Given the description of an element on the screen output the (x, y) to click on. 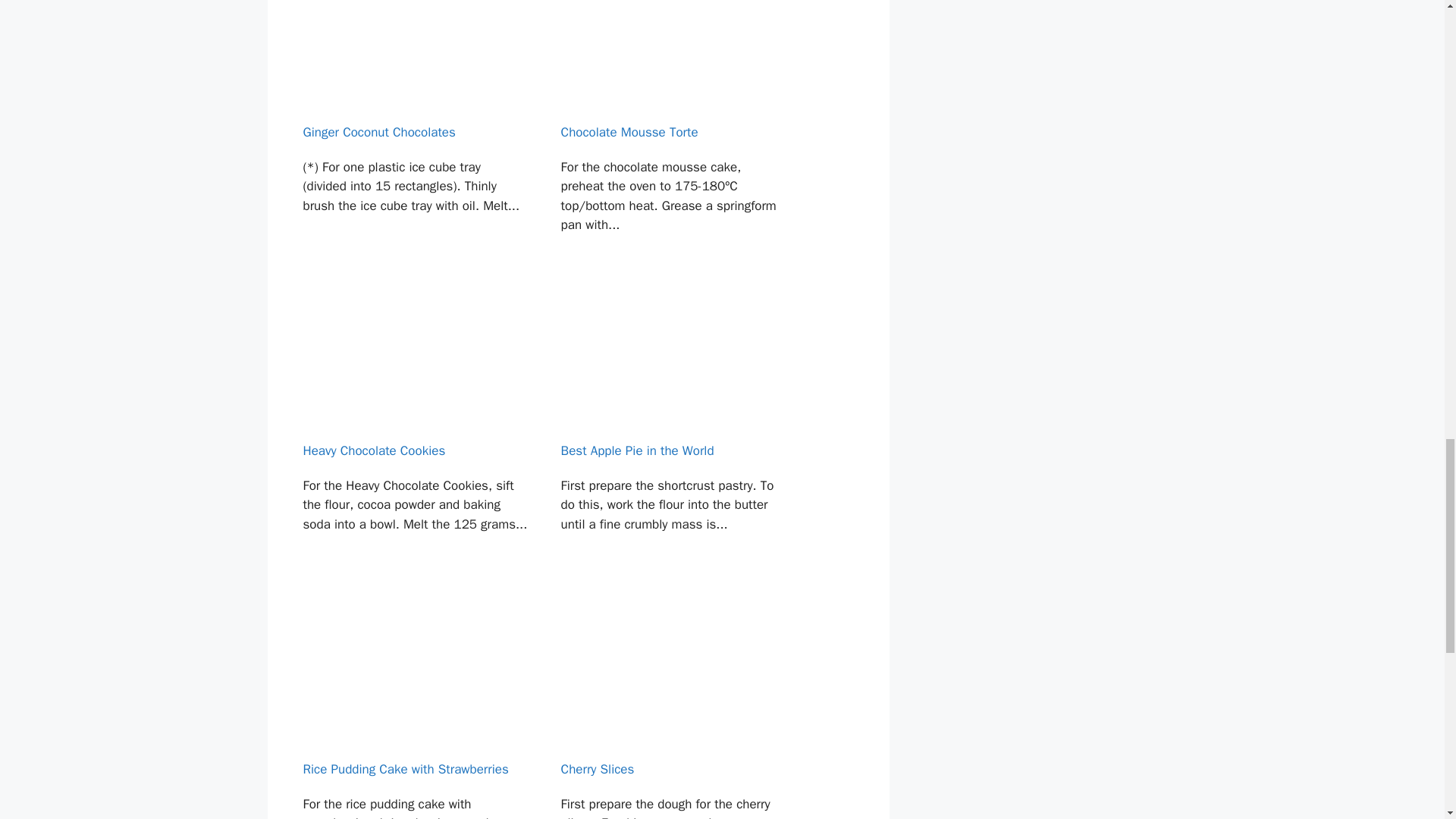
Cherry Slices (673, 706)
Rice Pudding Cake with Strawberries (414, 706)
